Given the description of an element on the screen output the (x, y) to click on. 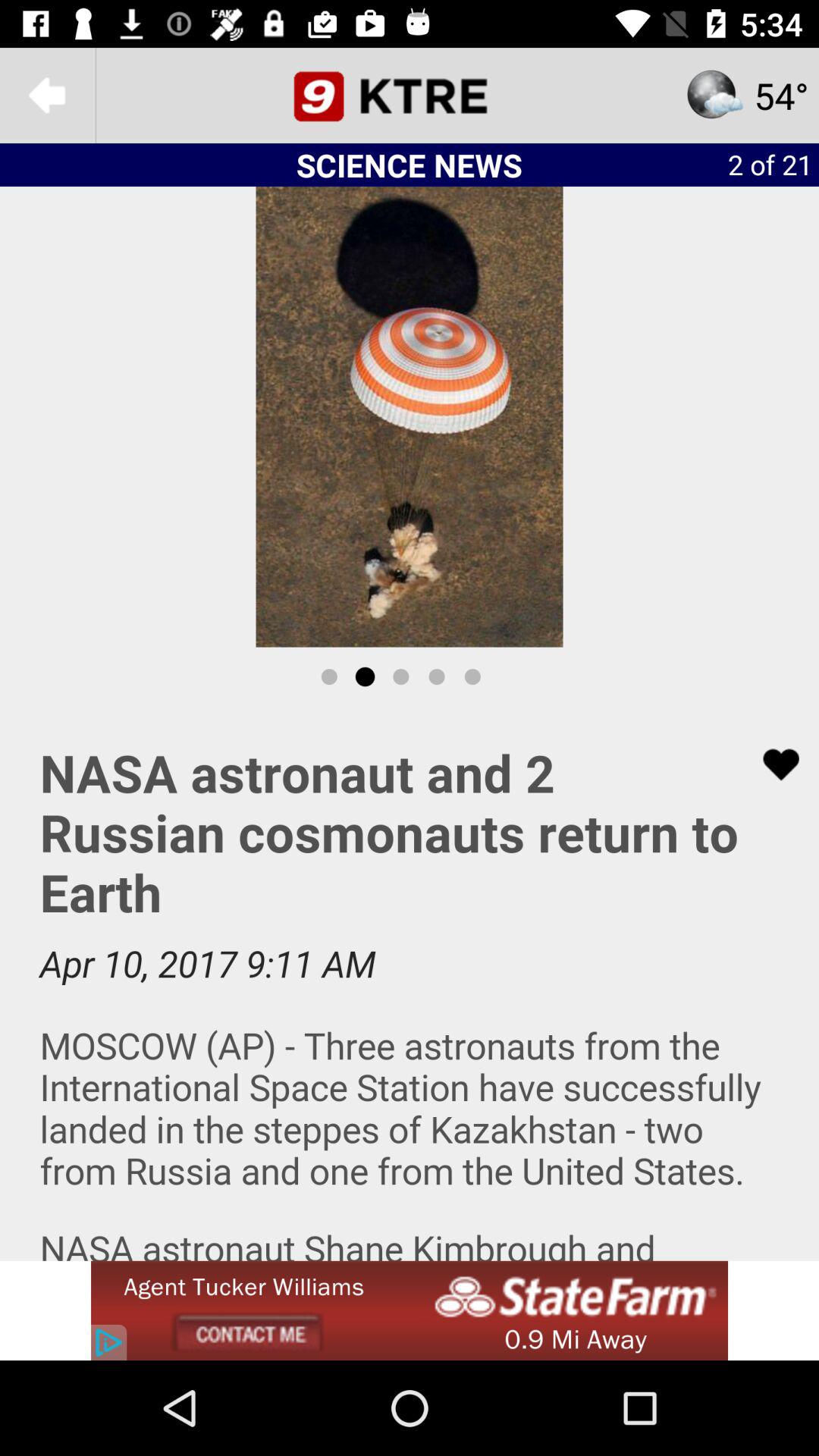
logo option button (409, 95)
